Given the description of an element on the screen output the (x, y) to click on. 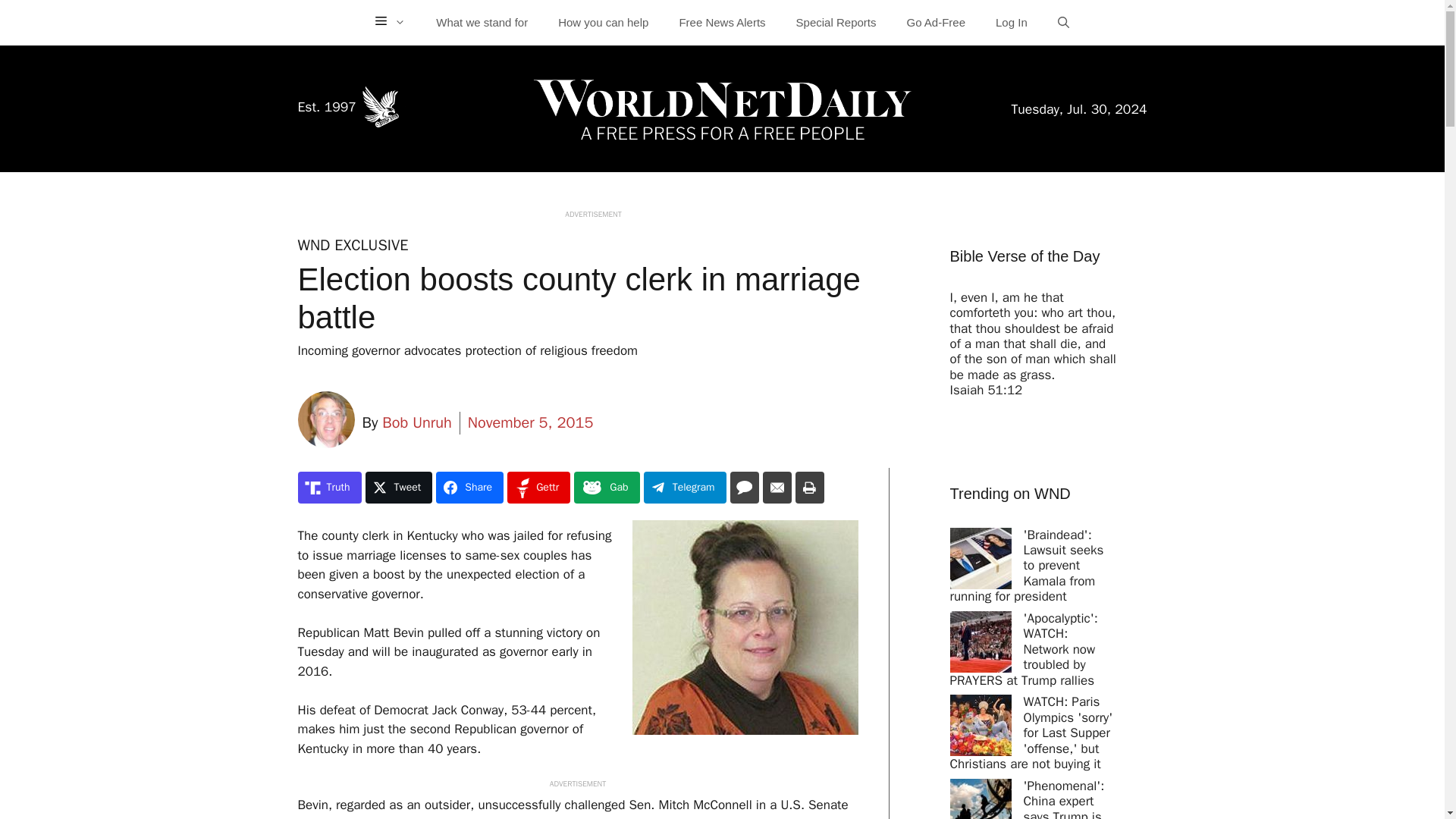
Share on Share (469, 487)
Share on Gettr (538, 487)
Share on Truth (329, 487)
Share on Tweet (398, 487)
Share on Gab (606, 487)
Share on Telegram (684, 487)
